Given the description of an element on the screen output the (x, y) to click on. 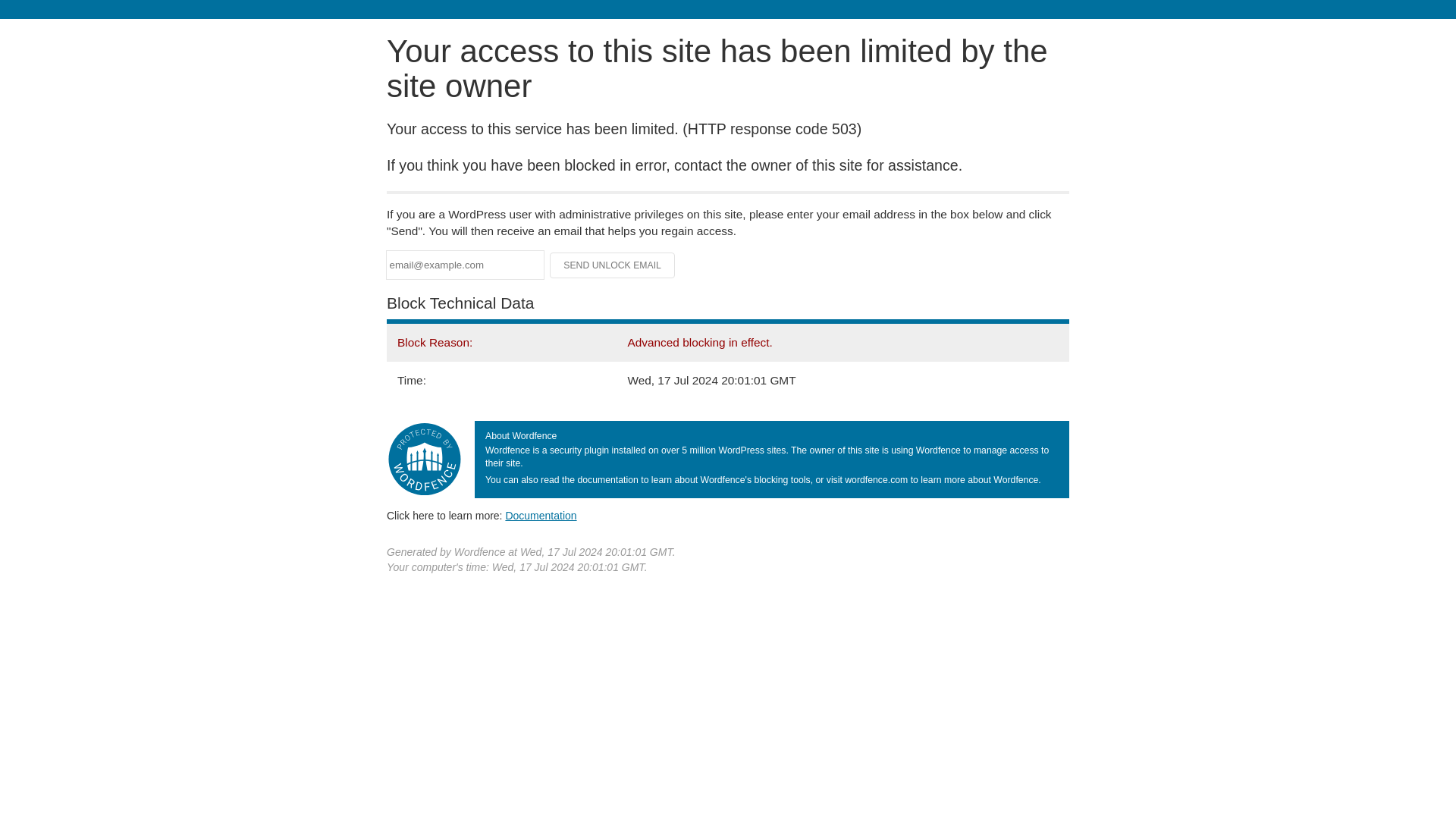
Documentation (540, 515)
Send Unlock Email (612, 265)
Send Unlock Email (612, 265)
